Given the description of an element on the screen output the (x, y) to click on. 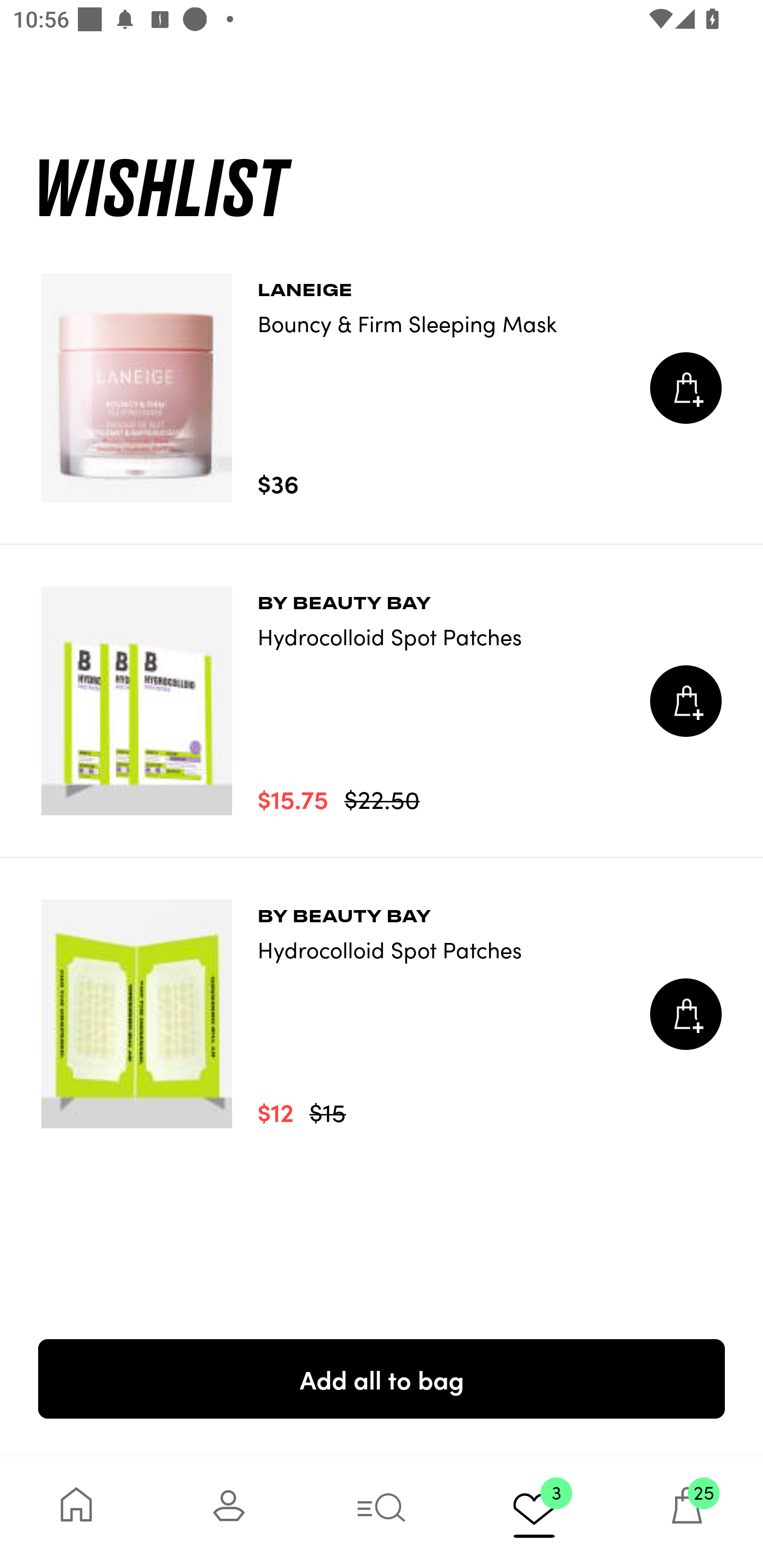
LANEIGE Bouncy & Firm Sleeping Mask $36 (381, 388)
BY BEAUTY BAY Hydrocolloid Spot Patches $12 $15 (381, 1013)
Add all to bag (381, 1379)
3 (533, 1512)
25 (686, 1512)
